Given the description of an element on the screen output the (x, y) to click on. 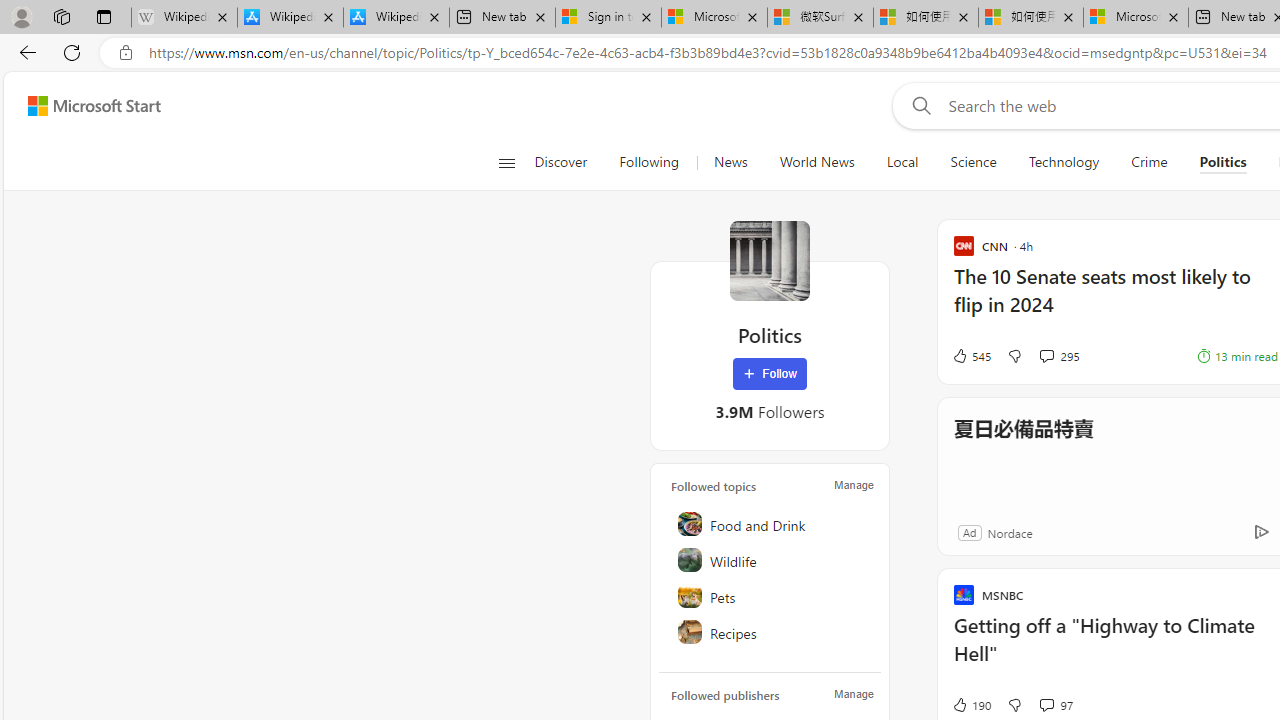
The 10 Senate seats most likely to flip in 2024 (1115, 300)
View comments 97 Comment (1046, 704)
Getting off a "Highway to Climate Hell" (1115, 650)
